Given the description of an element on the screen output the (x, y) to click on. 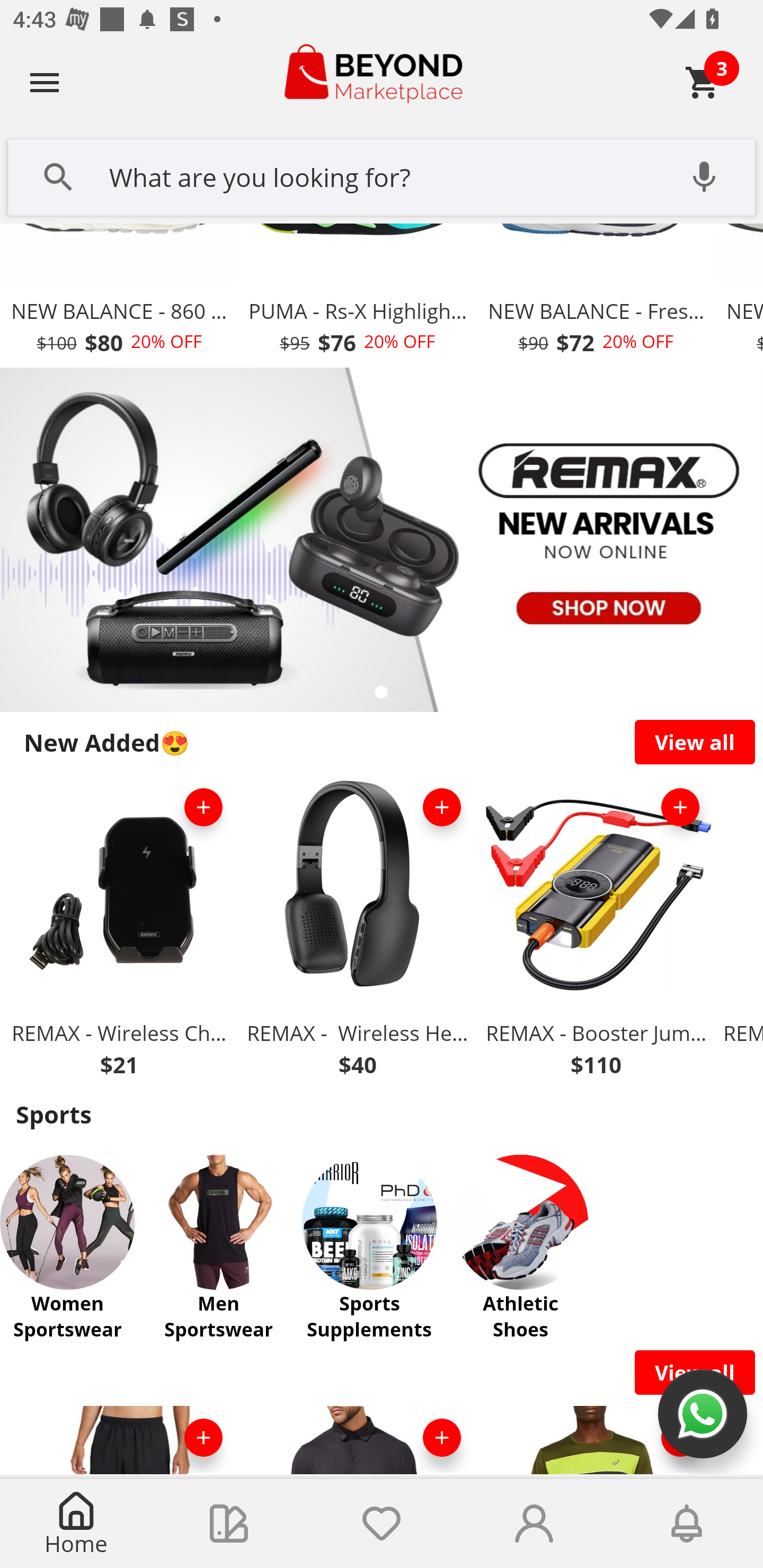
Navigate up (44, 82)
What are you looking for? (381, 175)
NEW BALANCE - 860 Running Shoes $100 $80 20% OFF (119, 295)
View all (694, 742)
REMAX - Wireless Charging Phone Holder $21 (119, 931)
REMAX -  Wireless Headphone RB-700HB Bluetooth $40 (357, 931)
Collections (228, 1523)
Wishlist (381, 1523)
Account (533, 1523)
Notifications (686, 1523)
